Given the description of an element on the screen output the (x, y) to click on. 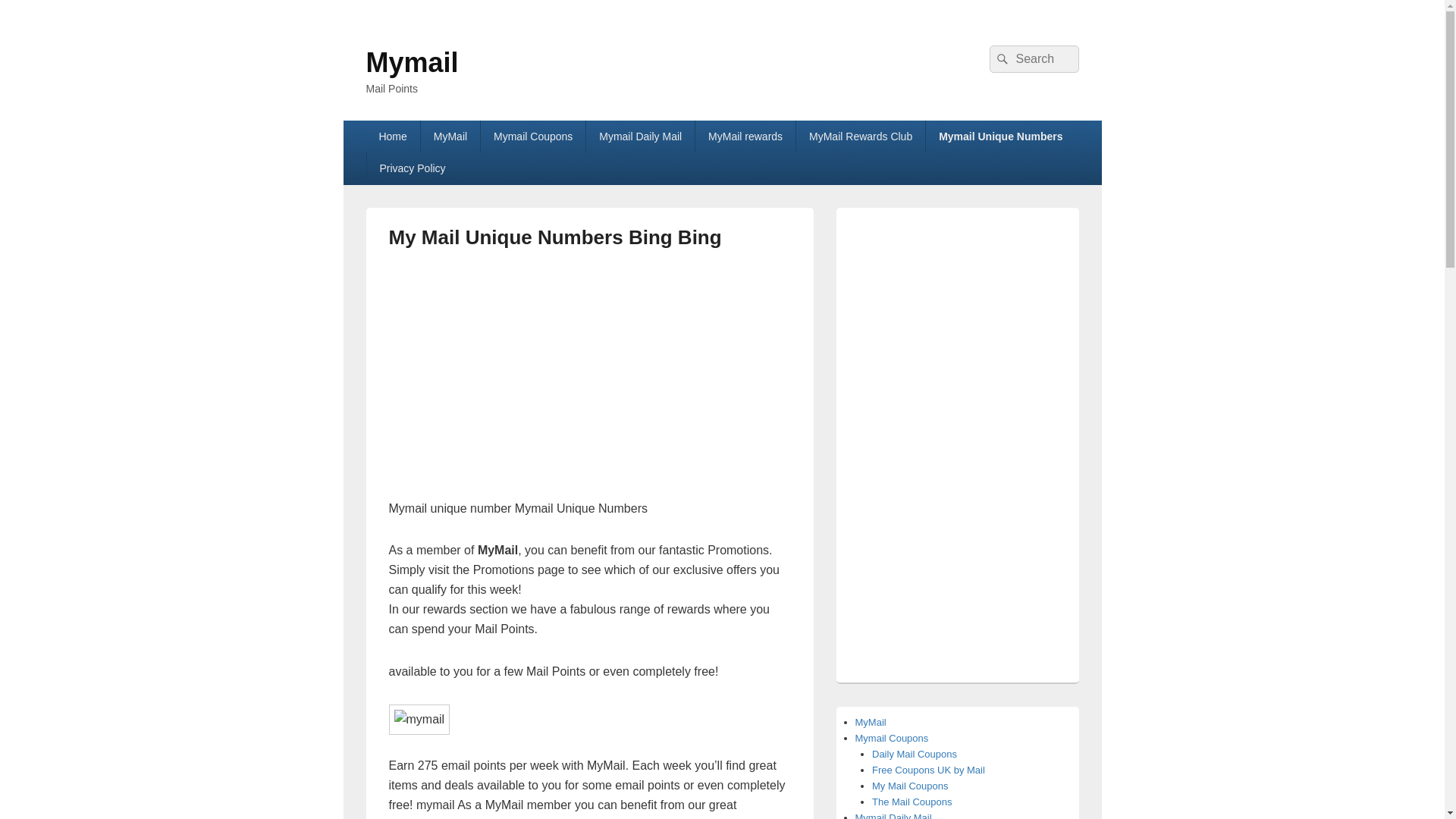
Home (392, 136)
Mymail Coupons (532, 136)
Search for: (1033, 58)
Advertisement (515, 380)
Mymail (411, 61)
Mymail Daily Mail (640, 136)
MyMail (450, 136)
MyMail rewards (744, 136)
